Given the description of an element on the screen output the (x, y) to click on. 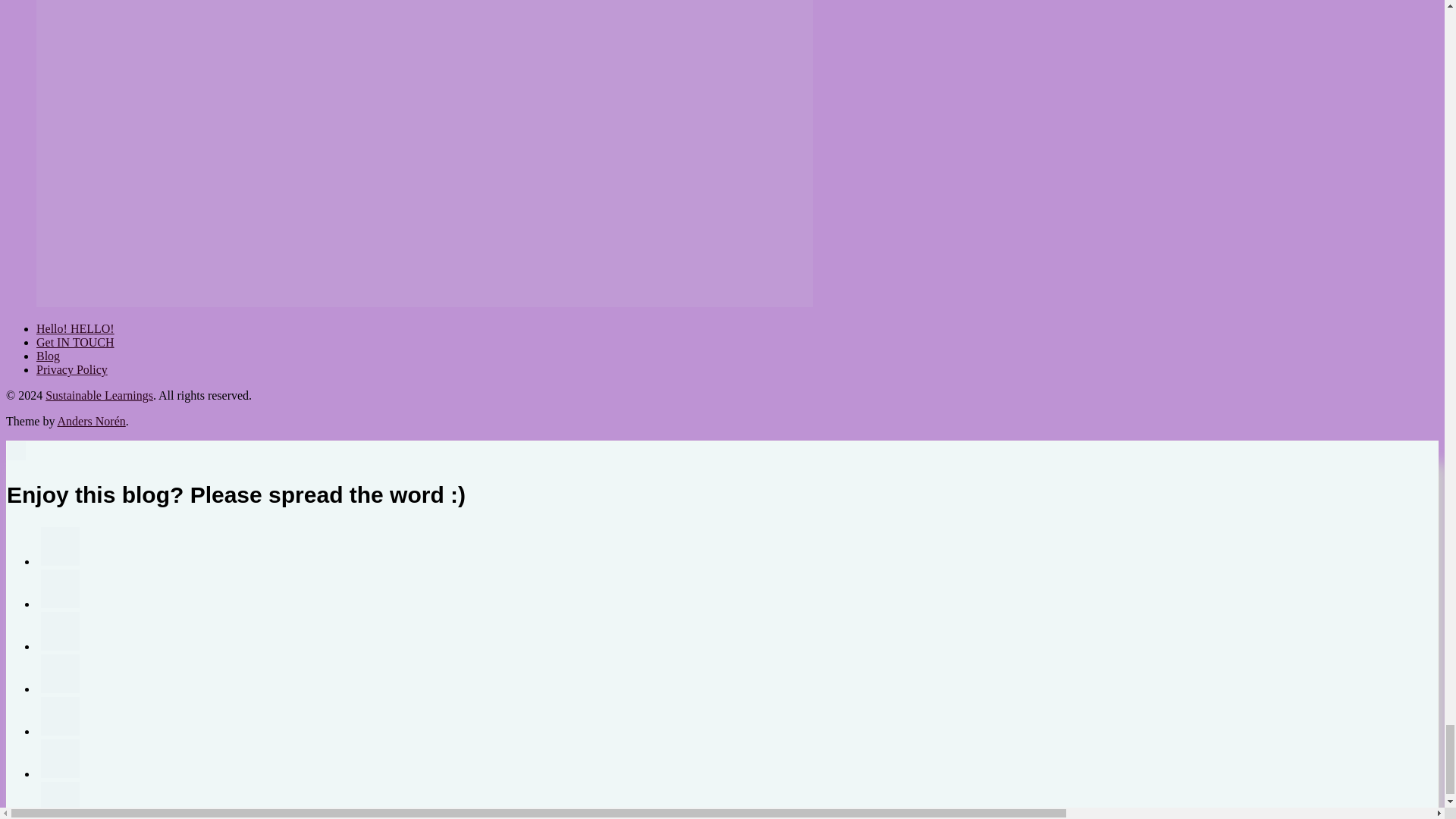
YouTube (60, 715)
Twitter (60, 673)
Facebook (60, 630)
RSS (60, 546)
Follow by Email (60, 588)
